Given the description of an element on the screen output the (x, y) to click on. 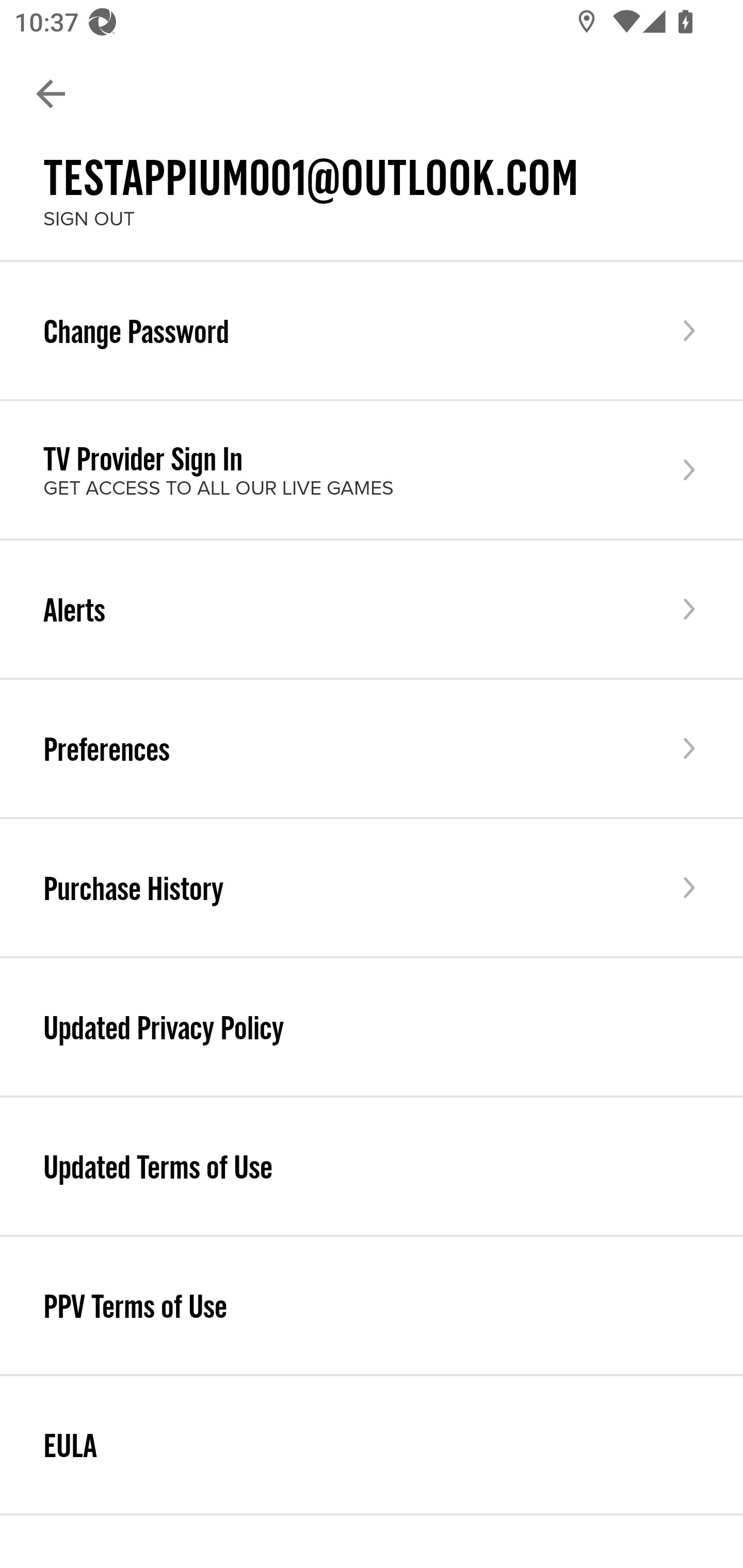
Navigate up (50, 93)
SIGN OUT (88, 218)
Change Password (371, 330)
Alerts (371, 608)
Preferences (371, 748)
Purchase History (371, 887)
Updated Privacy Policy (371, 1027)
Updated Terms of Use (371, 1166)
PPV Terms of Use (371, 1305)
EULA (371, 1444)
